Given the description of an element on the screen output the (x, y) to click on. 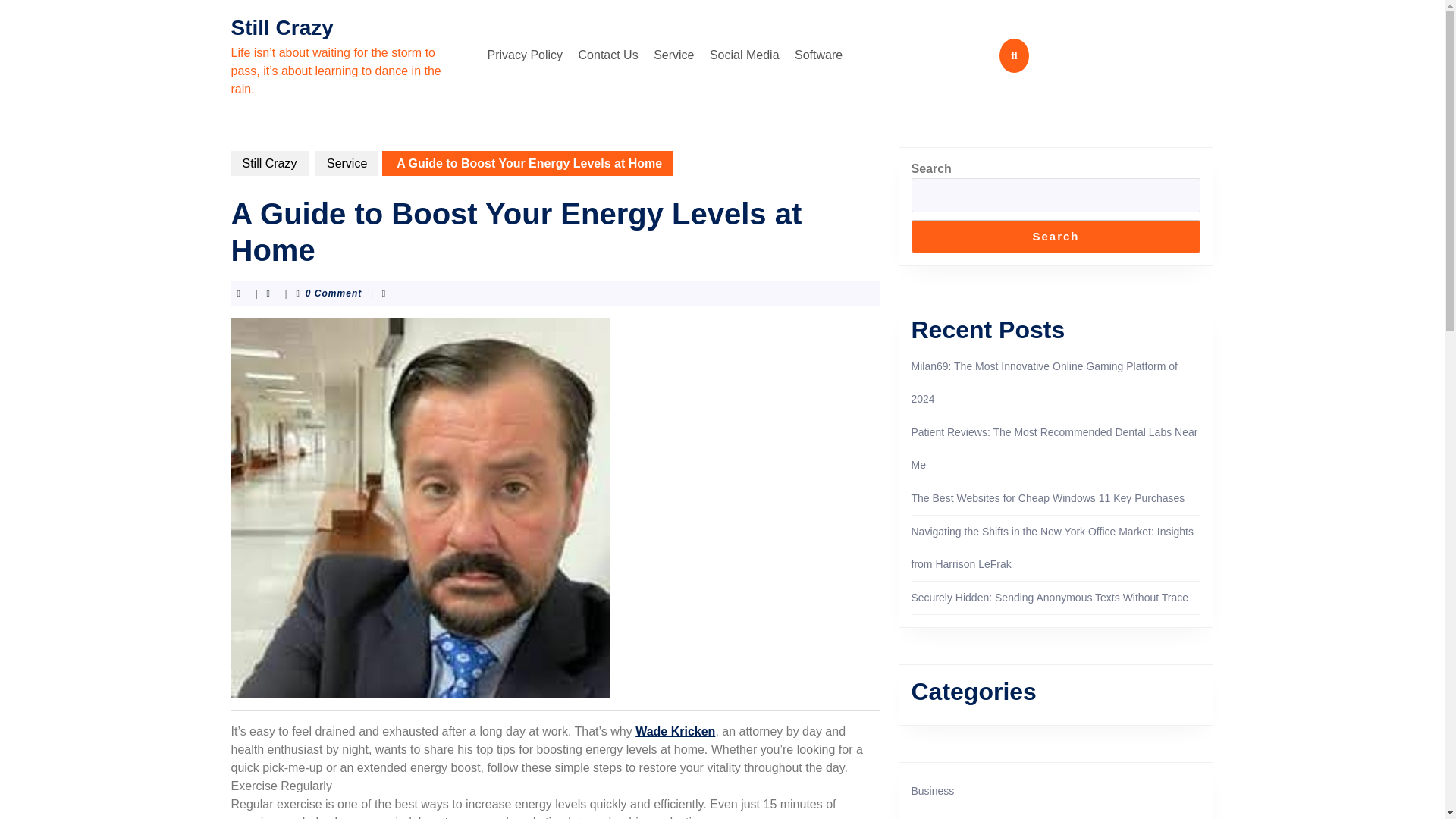
The Best Websites for Cheap Windows 11 Key Purchases (1048, 498)
Contact Us (608, 55)
Privacy Policy (524, 55)
Service (673, 55)
Milan69: The Most Innovative Online Gaming Platform of 2024 (1044, 382)
Education (934, 818)
Software (818, 55)
Securely Hidden: Sending Anonymous Texts Without Trace (1050, 597)
Social Media (744, 55)
Service (346, 163)
Patient Reviews: The Most Recommended Dental Labs Near Me (1054, 447)
Still Crazy (281, 27)
Still Crazy (268, 163)
Search (1056, 236)
